Given the description of an element on the screen output the (x, y) to click on. 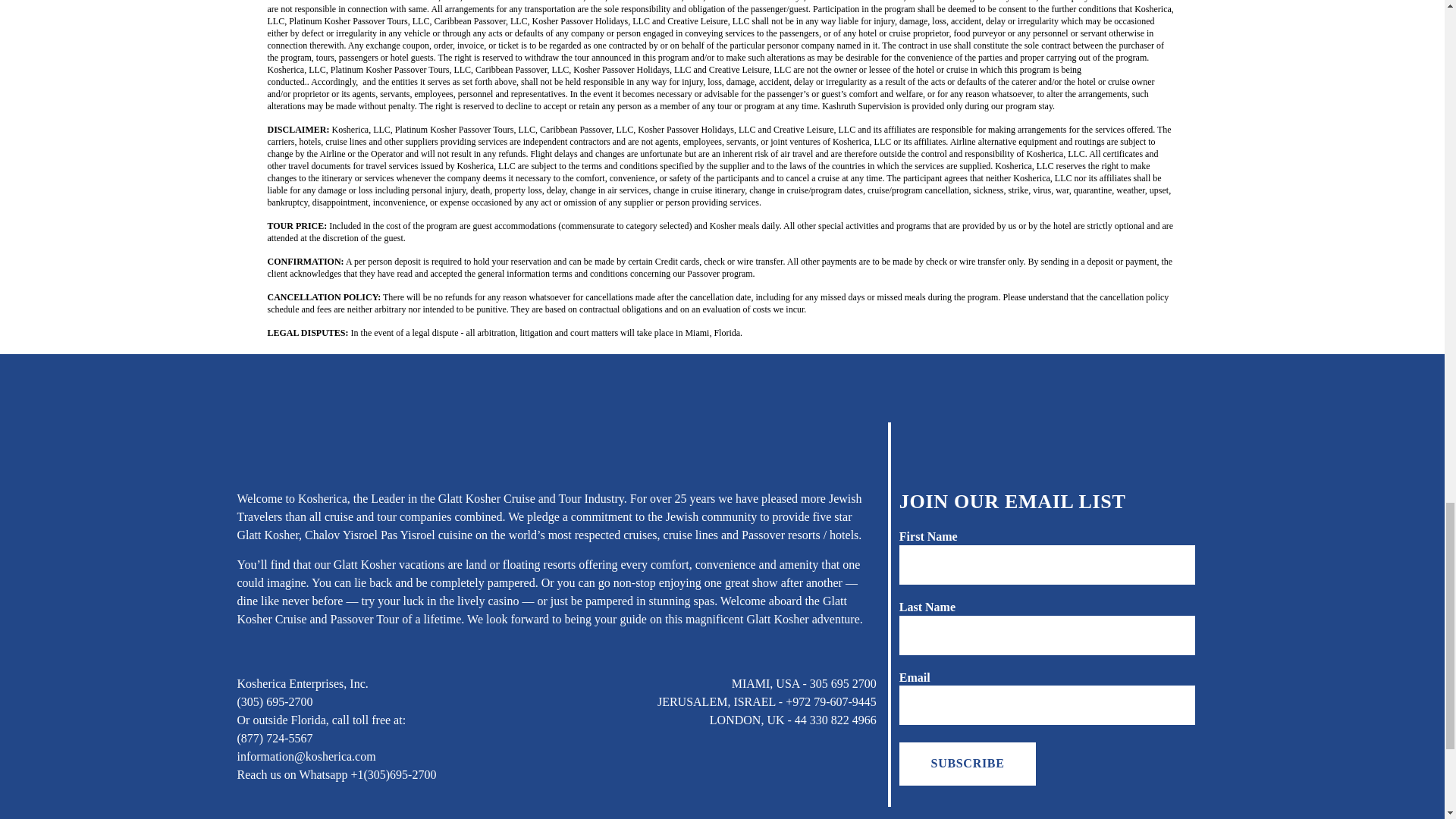
SUBSCRIBE (967, 763)
